Given the description of an element on the screen output the (x, y) to click on. 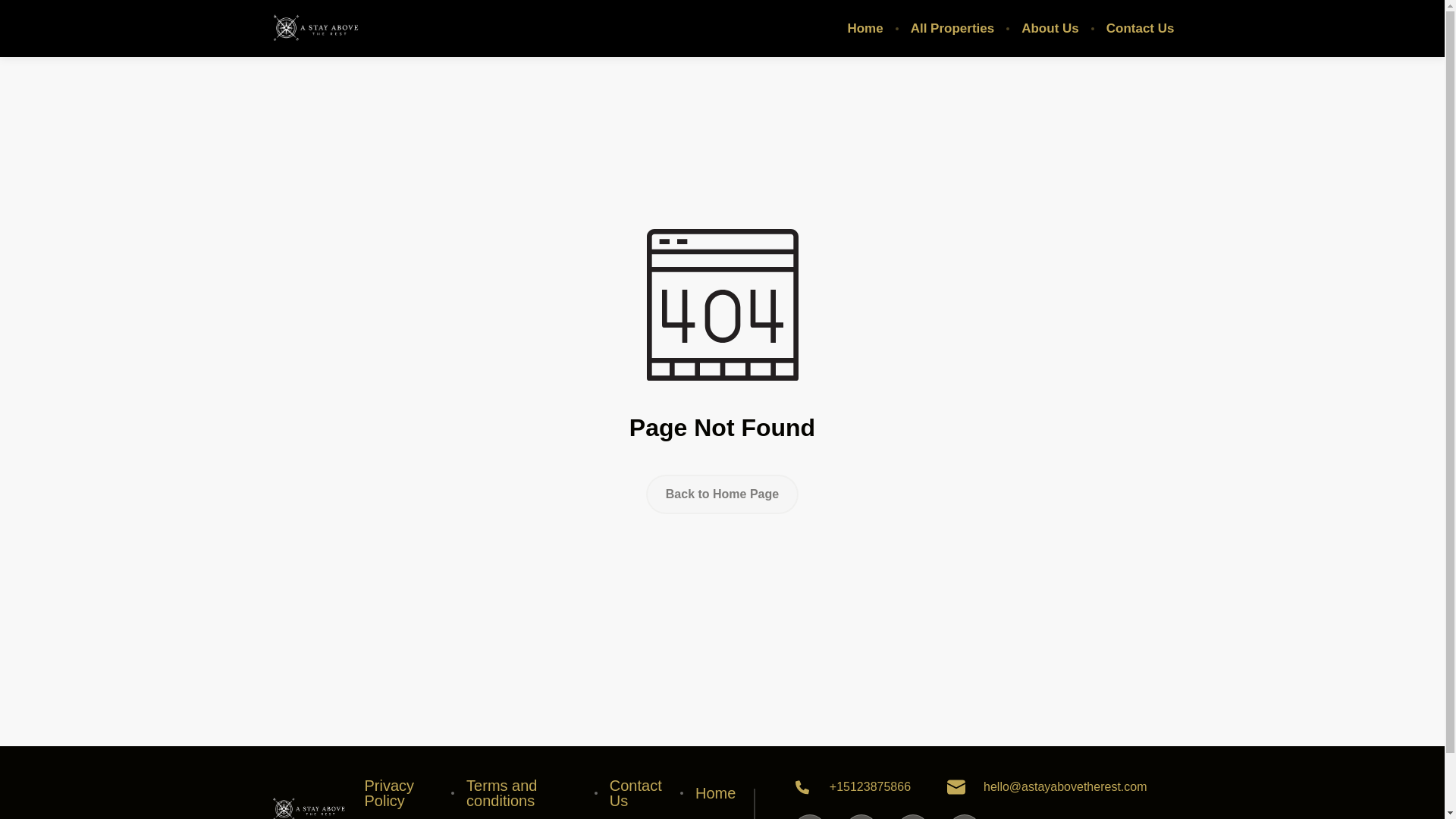
About Us (1050, 28)
Back to Home Page (721, 494)
Privacy Policy (401, 793)
Home (715, 792)
Terms and conditions (523, 793)
Contact Us (1140, 28)
Contact Us (639, 793)
All Properties (952, 28)
Home (864, 28)
